Given the description of an element on the screen output the (x, y) to click on. 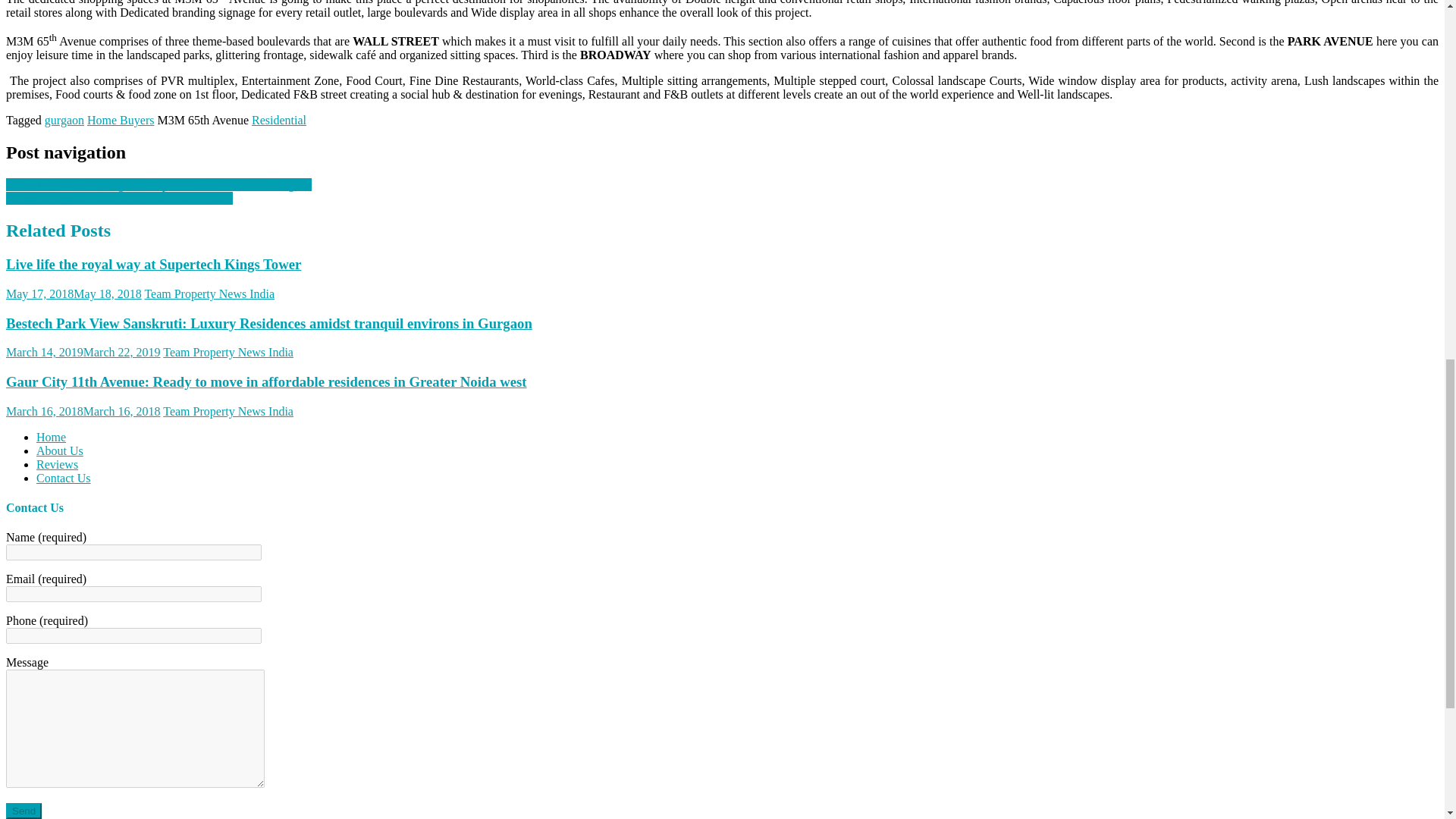
Team Property News India (209, 293)
Residential (278, 119)
Live life the royal way at Supertech Kings Tower (153, 263)
Adora de Goa: Homes with the soul of a resort (118, 197)
gurgaon (64, 119)
March 16, 2018March 16, 2018 (82, 410)
March 14, 2019March 22, 2019 (82, 351)
Team Property News India (228, 351)
